Given the description of an element on the screen output the (x, y) to click on. 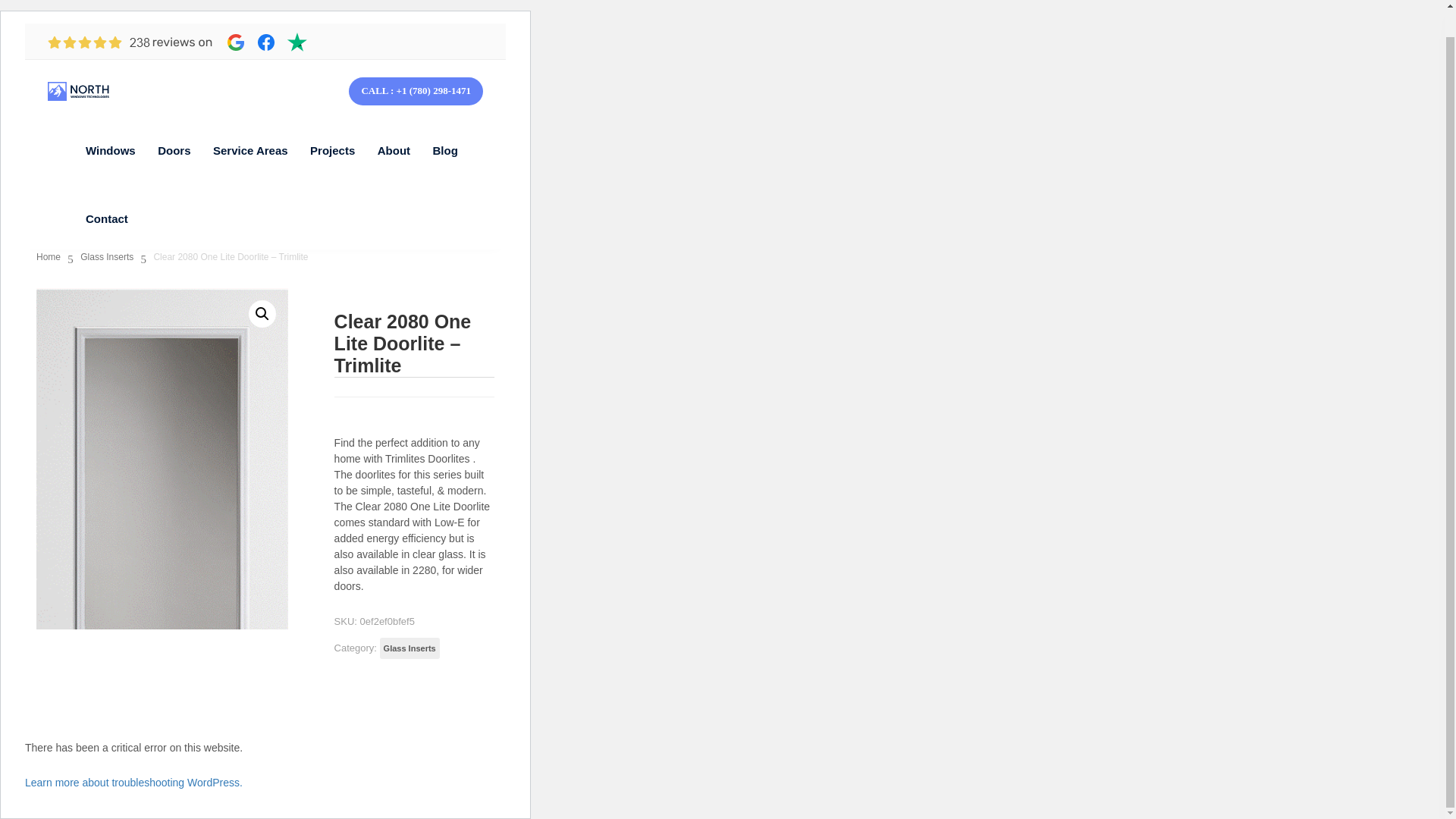
Service Areas (250, 150)
